Given the description of an element on the screen output the (x, y) to click on. 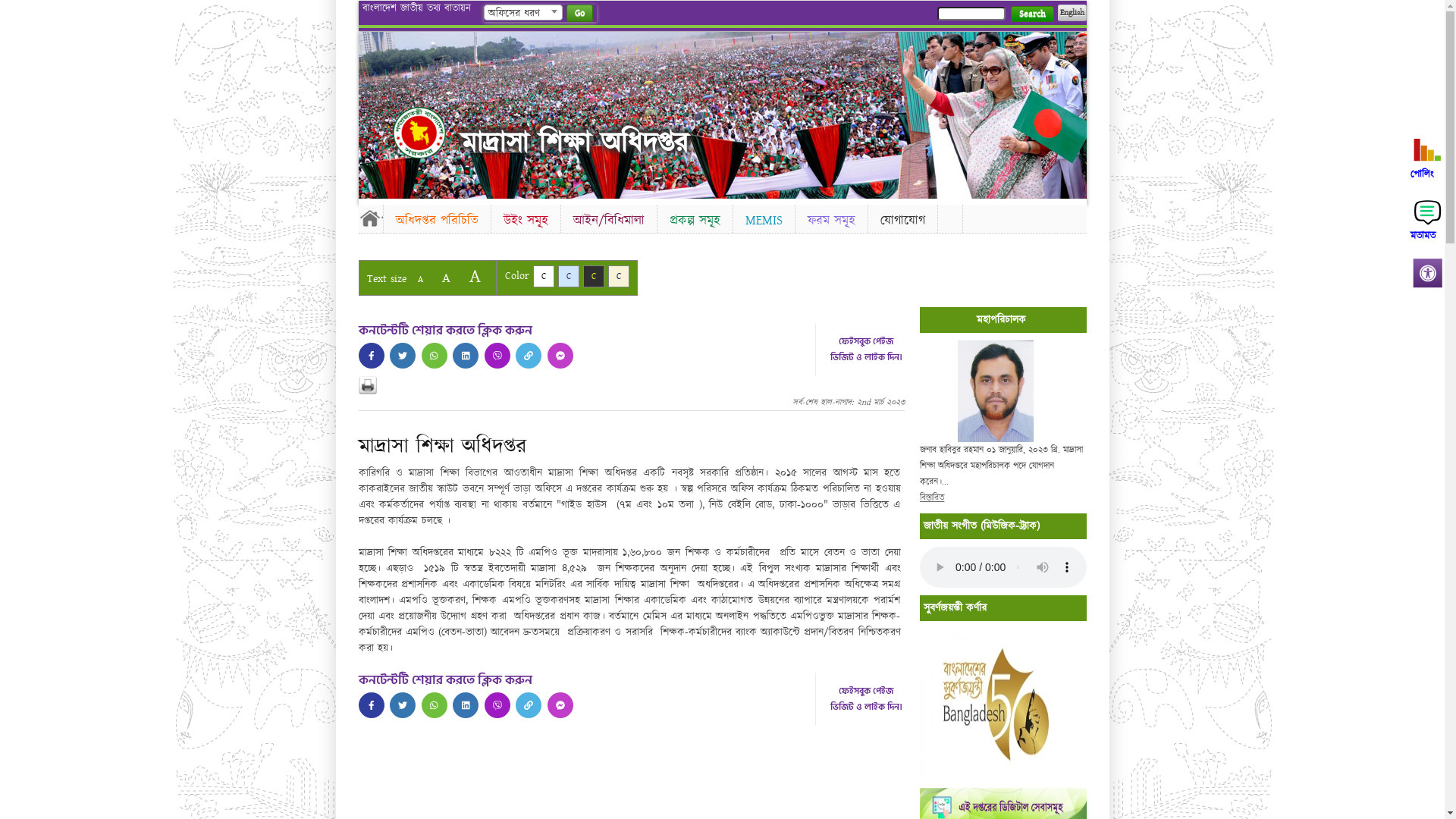
A Element type: text (419, 279)

					
				 Element type: hover (418, 132)
C Element type: text (618, 276)
English Element type: text (1071, 12)

    
     Element type: hover (465, 705)
Go Element type: text (578, 12)
Next Element type: text (1071, 110)
MEMIS Element type: text (762, 220)

    
     Element type: hover (465, 355)
C Element type: text (542, 276)
A Element type: text (474, 276)
Previous Element type: text (371, 110)
C Element type: text (592, 276)
C Element type: text (568, 276)
Search Element type: text (1031, 13)
A Element type: text (445, 277)
